Given the description of an element on the screen output the (x, y) to click on. 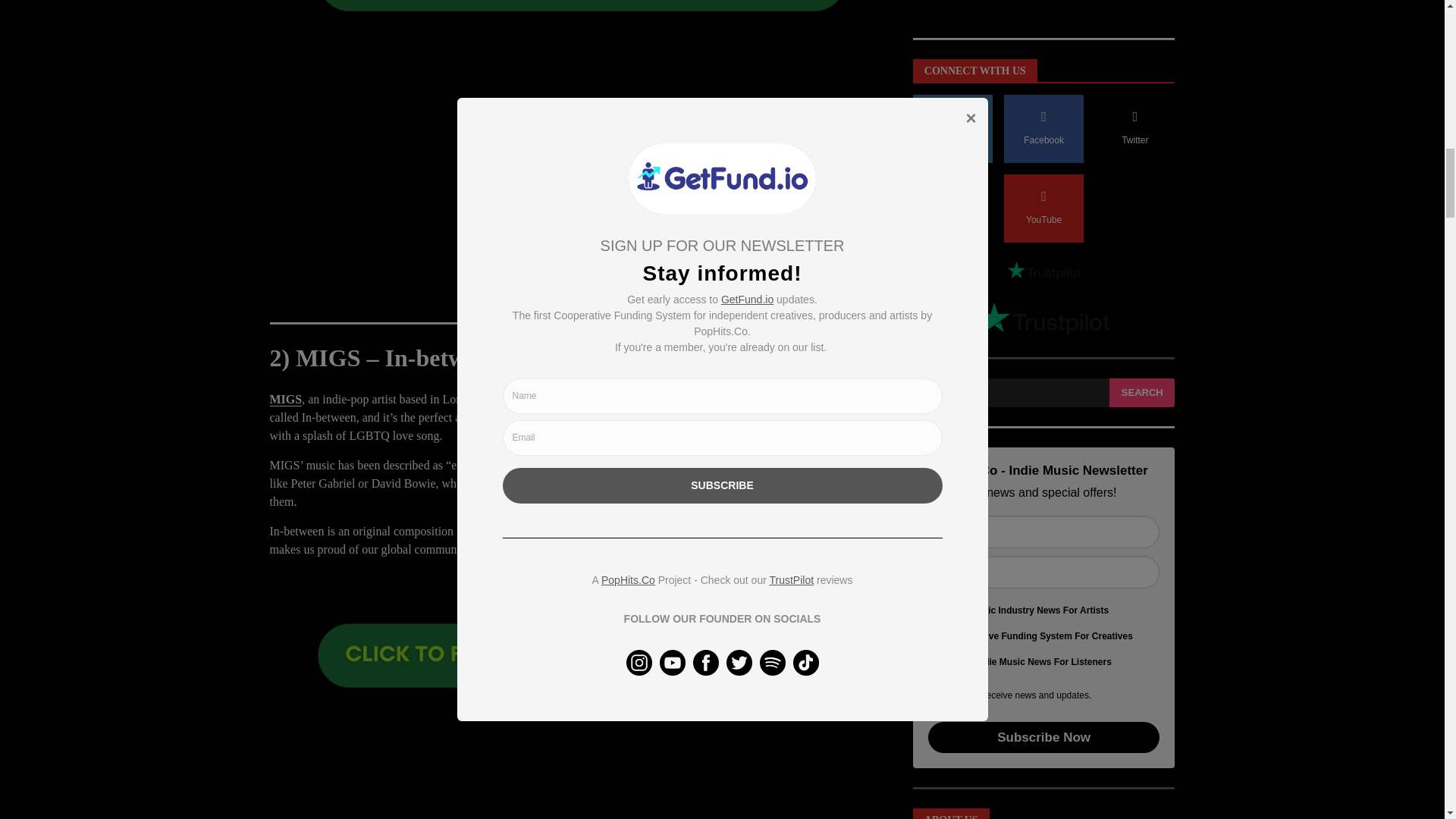
Spotify Embed: In-Between (581, 767)
PopHits.Co - Dynamic Music Distribution (1043, 115)
